Given the description of an element on the screen output the (x, y) to click on. 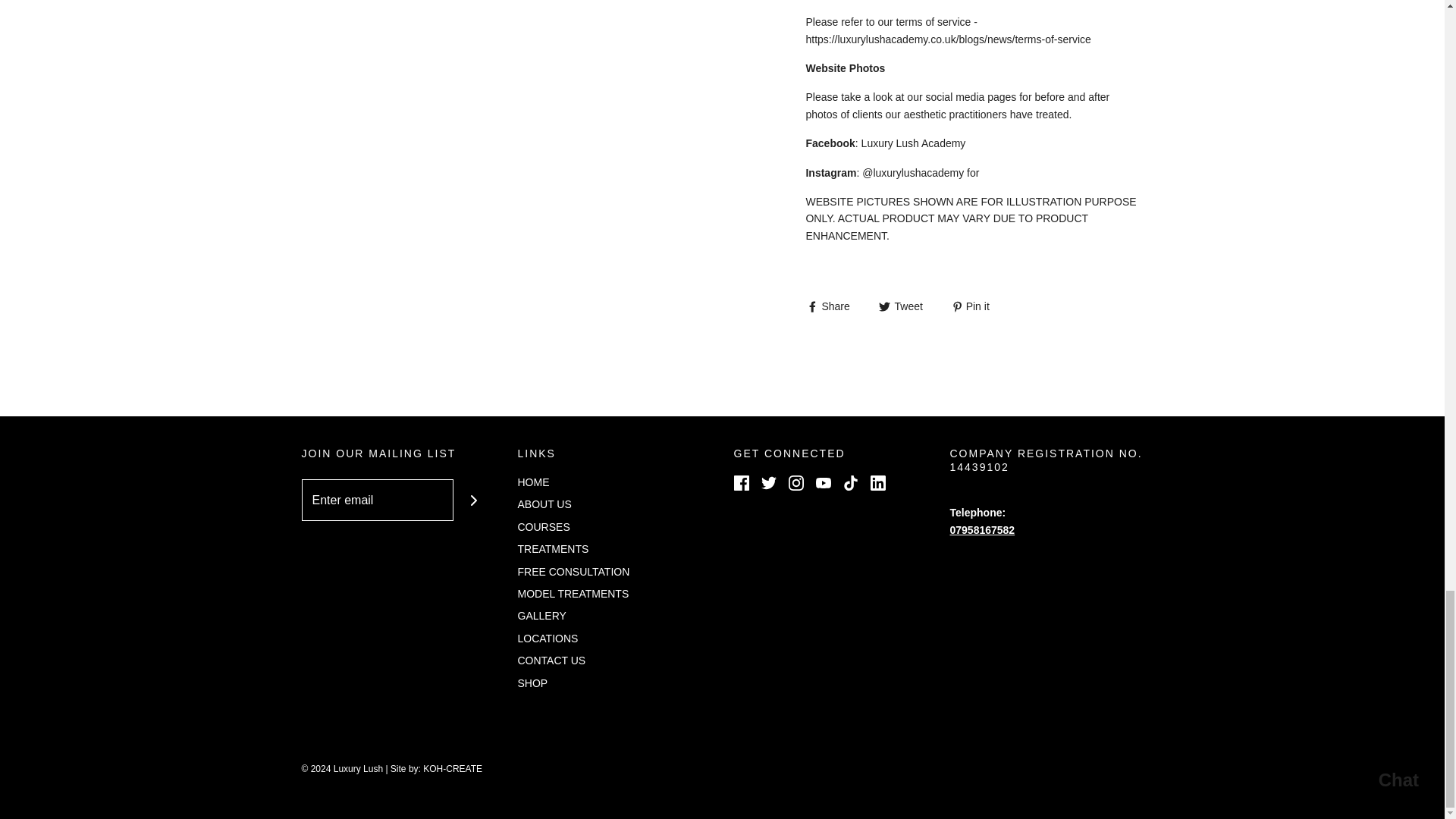
Twitter icon (768, 482)
Facebook icon (741, 482)
Instagram icon (796, 482)
YouTube icon (823, 482)
TikTok icon (851, 482)
LinkedIn icon (877, 482)
